Given the description of an element on the screen output the (x, y) to click on. 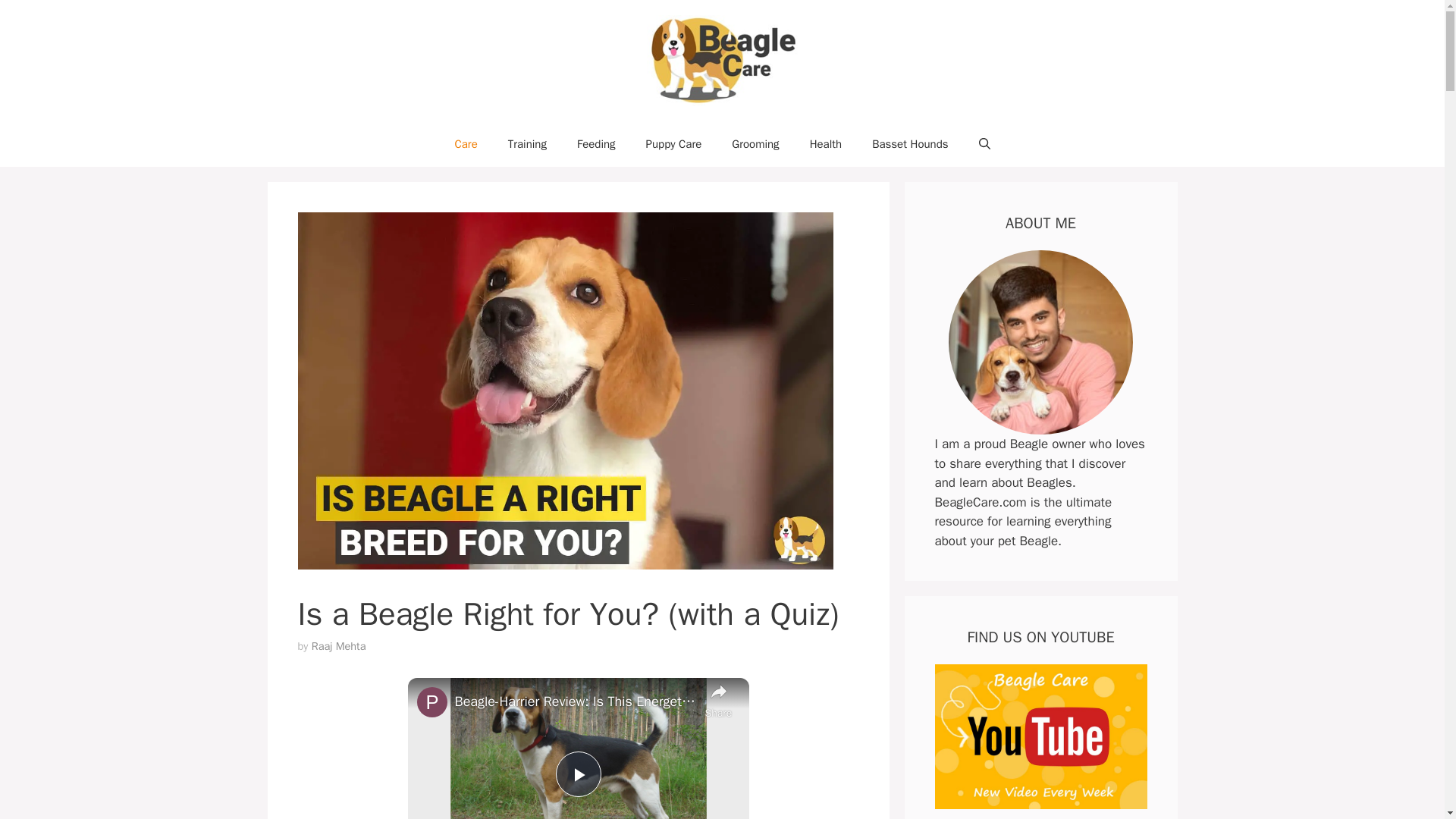
Raaj Mehta (338, 645)
Health (825, 144)
Puppy Care (673, 144)
Share (718, 699)
share (718, 699)
Training (527, 144)
Feeding (596, 144)
Play Video (576, 773)
Play Video (576, 773)
Grooming (754, 144)
Care (465, 144)
Basset Hounds (909, 144)
View all posts by Raaj Mehta (338, 645)
